Given the description of an element on the screen output the (x, y) to click on. 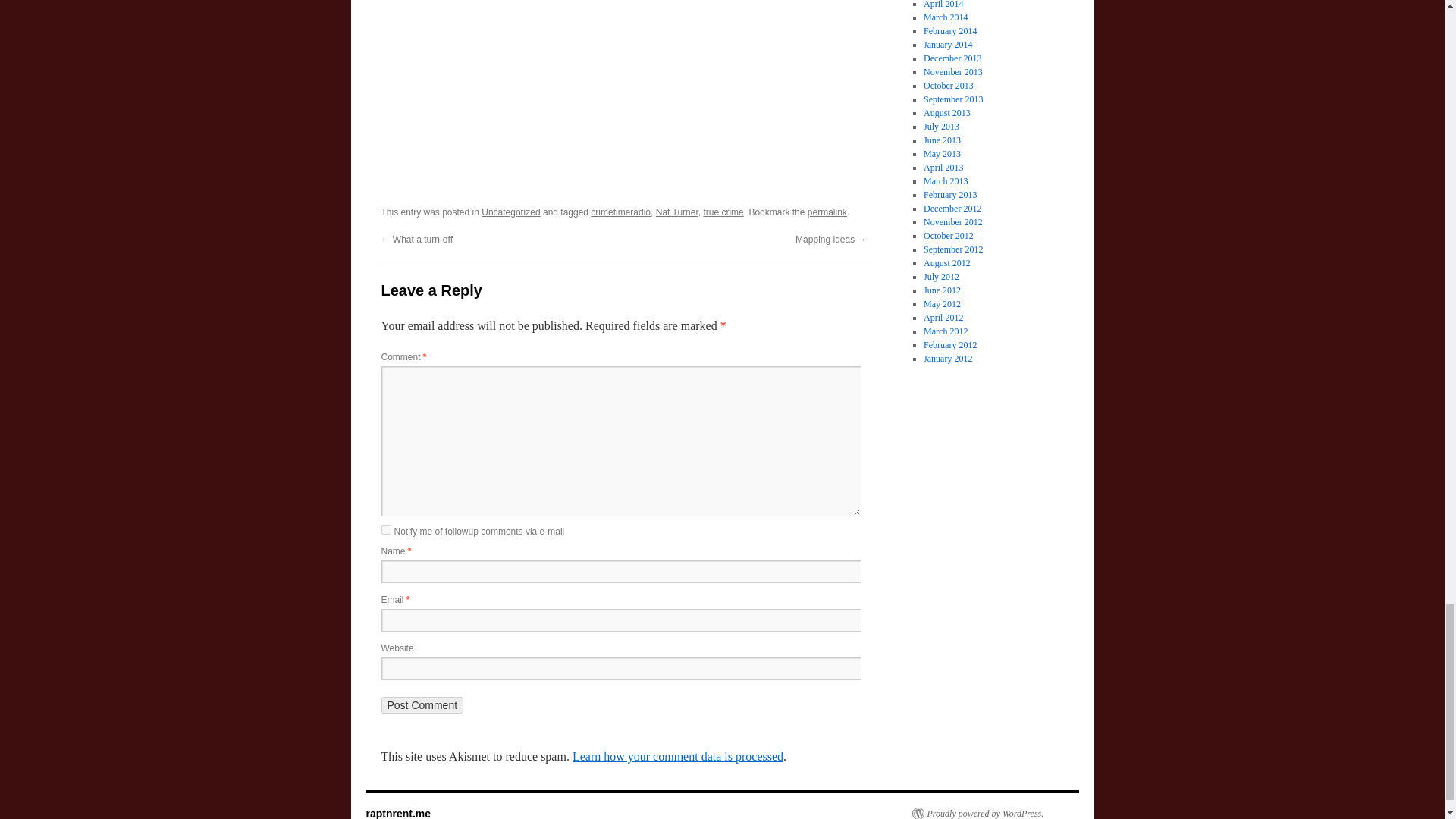
permalink (827, 212)
subscribe (385, 529)
Nat Turner (677, 212)
Learn how your comment data is processed (677, 756)
Post Comment (421, 704)
Uncategorized (510, 212)
true crime (722, 212)
crimetimeradio (620, 212)
Post Comment (421, 704)
Permalink to Nat Turner special (827, 212)
